Given the description of an element on the screen output the (x, y) to click on. 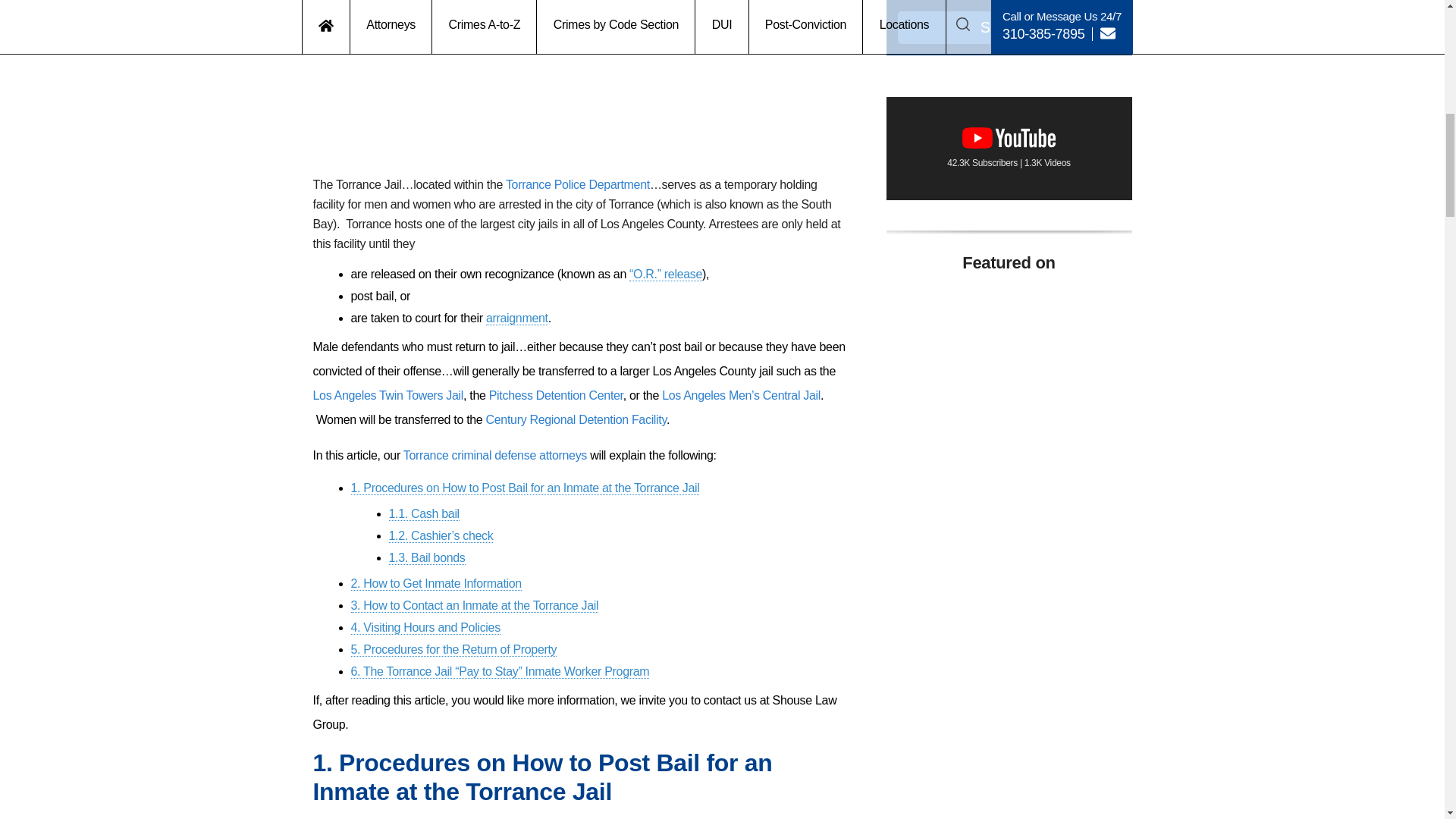
Torrance Police Department (577, 184)
Century Regional Detention Facility (576, 419)
Submit (1009, 27)
Los Angeles Twin Towers Jail (388, 395)
Pitchess Detention Center (556, 395)
arraignment (517, 318)
